Given the description of an element on the screen output the (x, y) to click on. 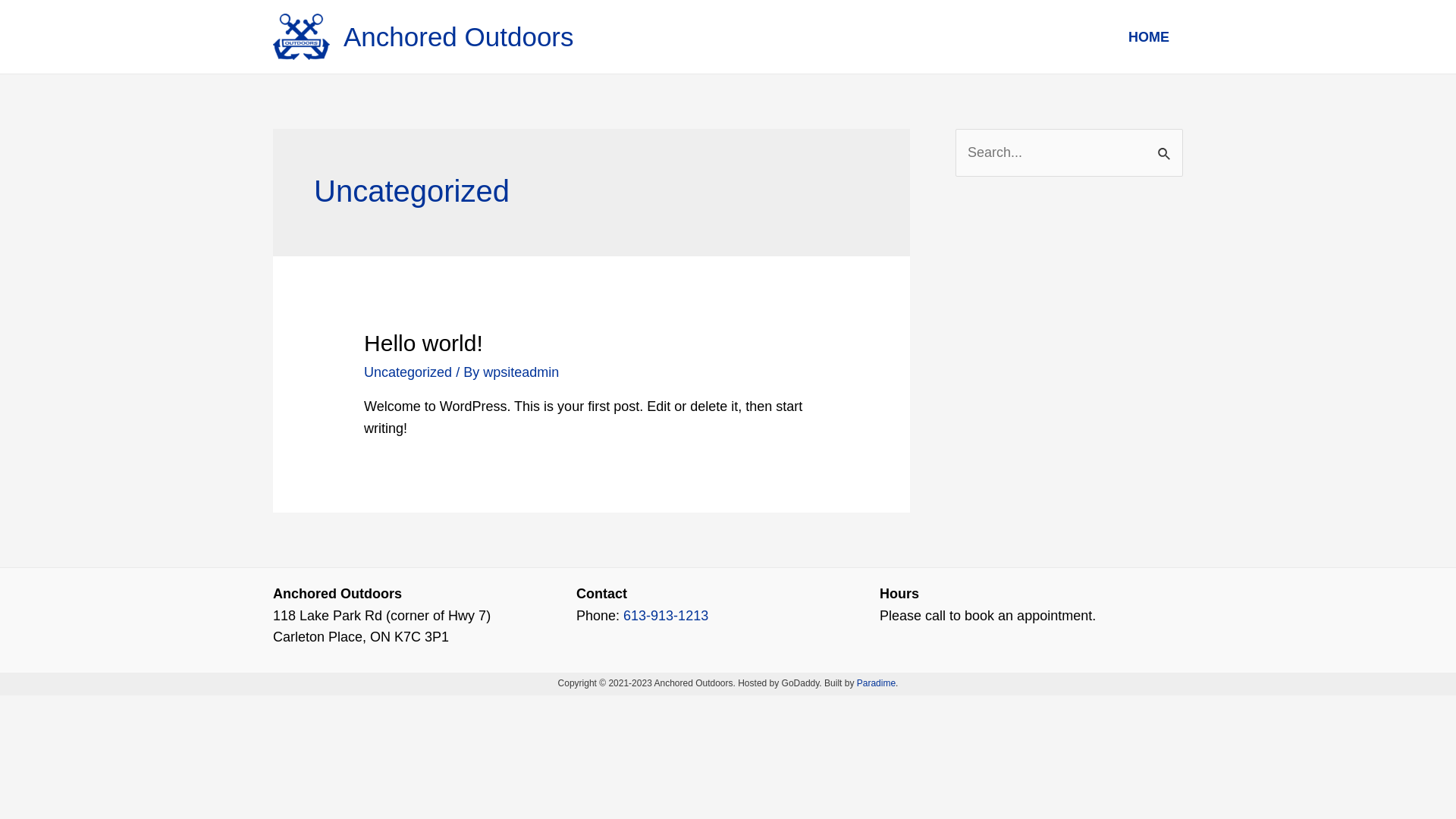
Anchored Outdoors Element type: text (458, 36)
HOME Element type: text (1148, 36)
wpsiteadmin Element type: text (520, 371)
Hello world! Element type: text (423, 342)
Paradime Element type: text (875, 682)
613-913-1213 Element type: text (665, 615)
Search Element type: text (1165, 145)
Uncategorized Element type: text (407, 371)
